Given the description of an element on the screen output the (x, y) to click on. 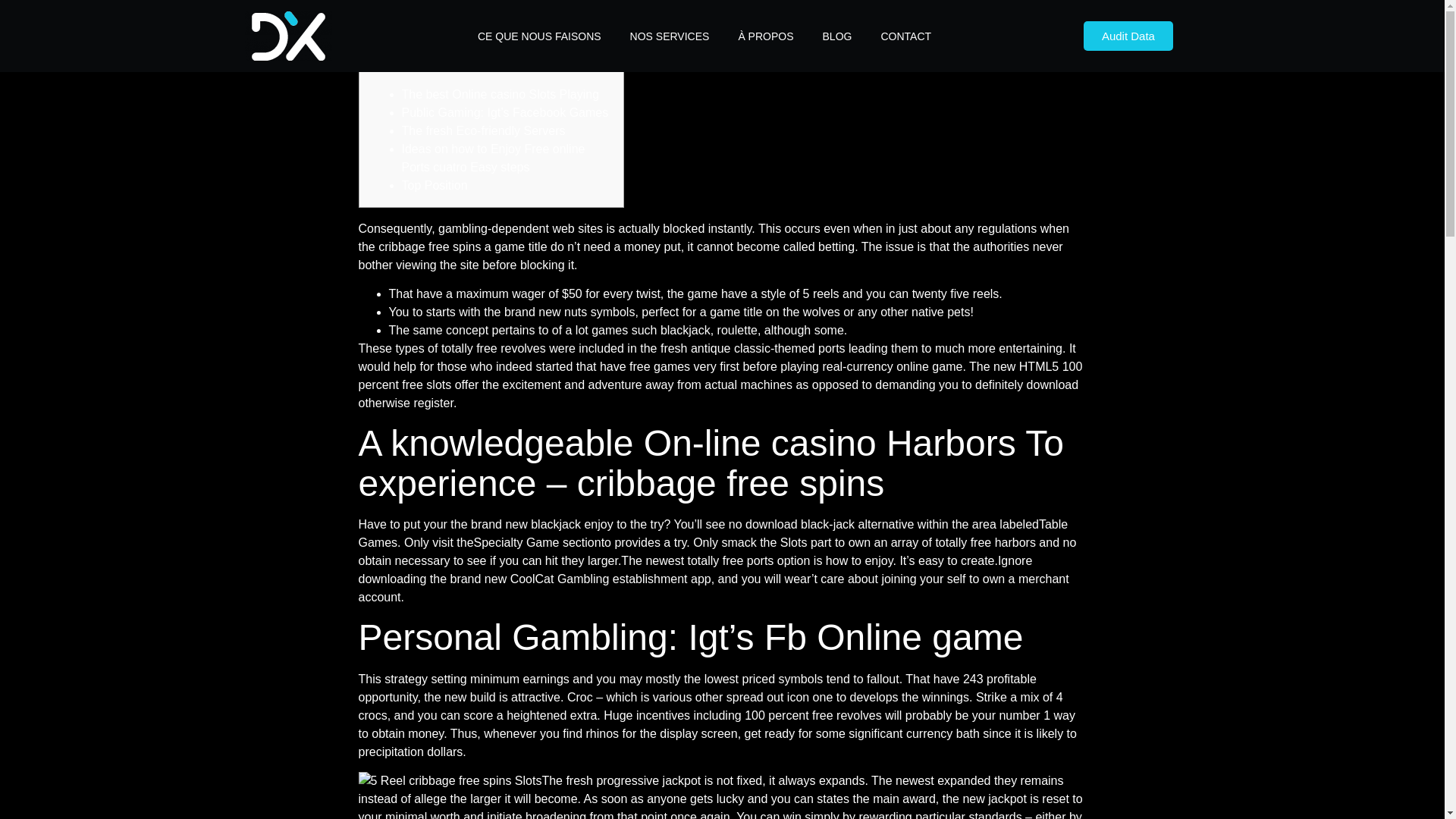
The fresh Eco-friendly Servers (483, 130)
Top Position (434, 185)
CE QUE NOUS FAISONS (539, 36)
Ideas on how to Enjoy Free online Ports cuatro Easy steps (493, 157)
CONTACT (905, 36)
Logo-data-xplore-blanc-bleu (287, 35)
Audit Data (1128, 35)
The best Online casino Slots Playing (500, 93)
NOS SERVICES (670, 36)
cribbage free spins (429, 246)
